Given the description of an element on the screen output the (x, y) to click on. 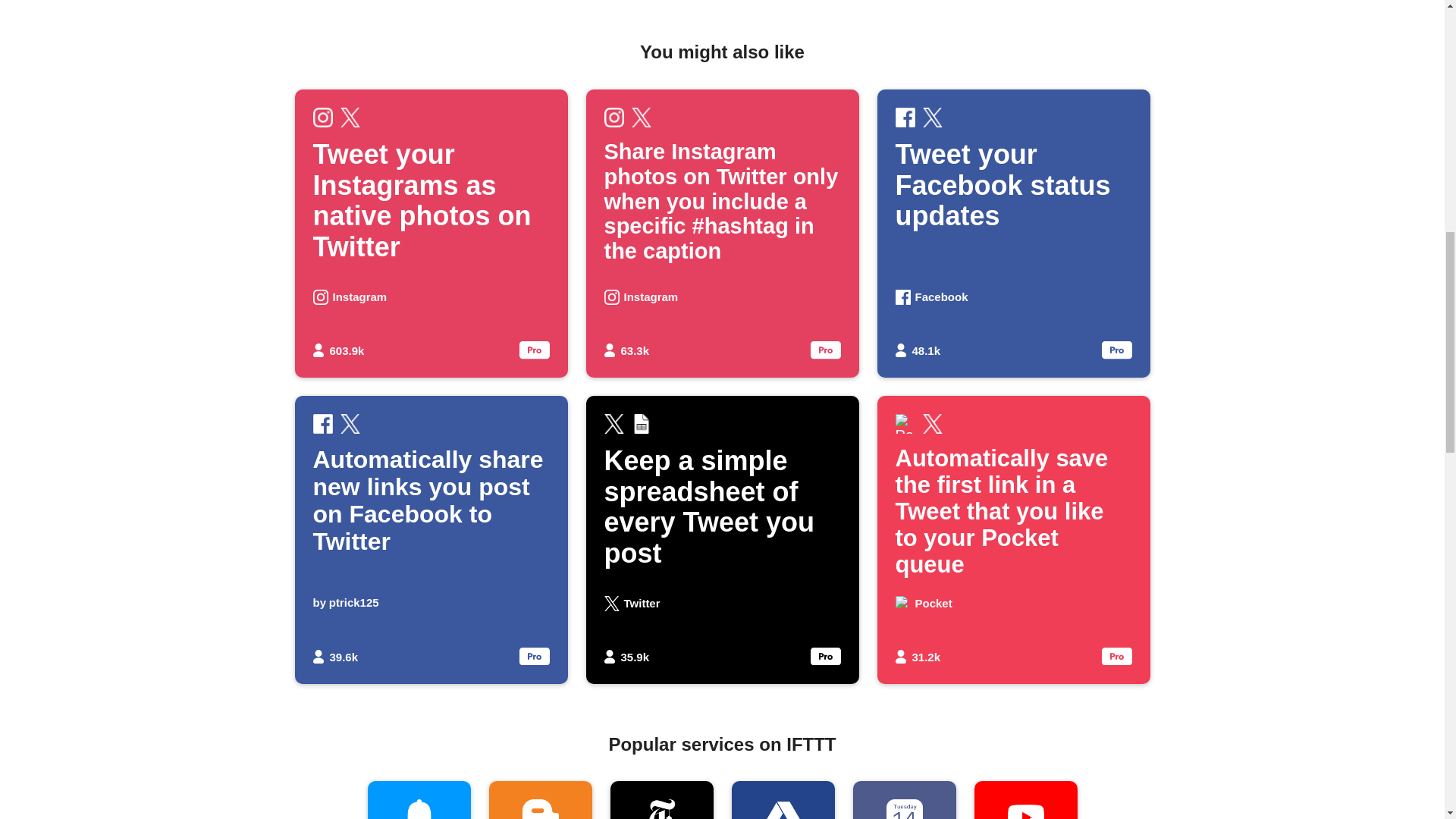
Blogger (539, 800)
YouTube (1025, 800)
iOS Calendar (903, 800)
Notifications (1013, 233)
Google Drive (418, 800)
The New York Times (782, 800)
